Given the description of an element on the screen output the (x, y) to click on. 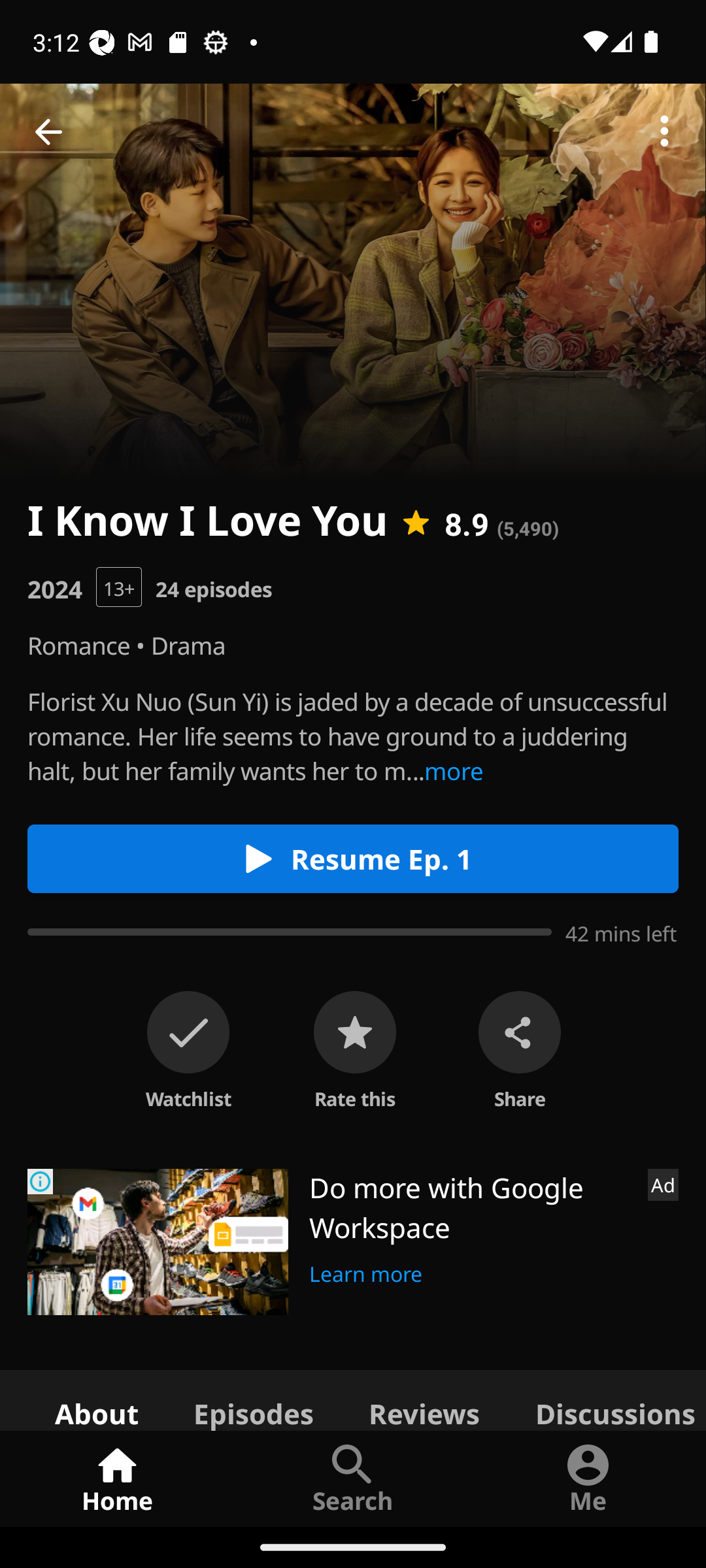
More (664, 131)
on (187, 1032)
Ad Choices Icon (39, 1181)
Do more with Google Workspace (471, 1207)
Learn more (365, 1271)
Episodes (252, 1400)
Reviews (423, 1400)
Discussions (606, 1400)
Search (352, 1478)
Me (588, 1478)
